Given the description of an element on the screen output the (x, y) to click on. 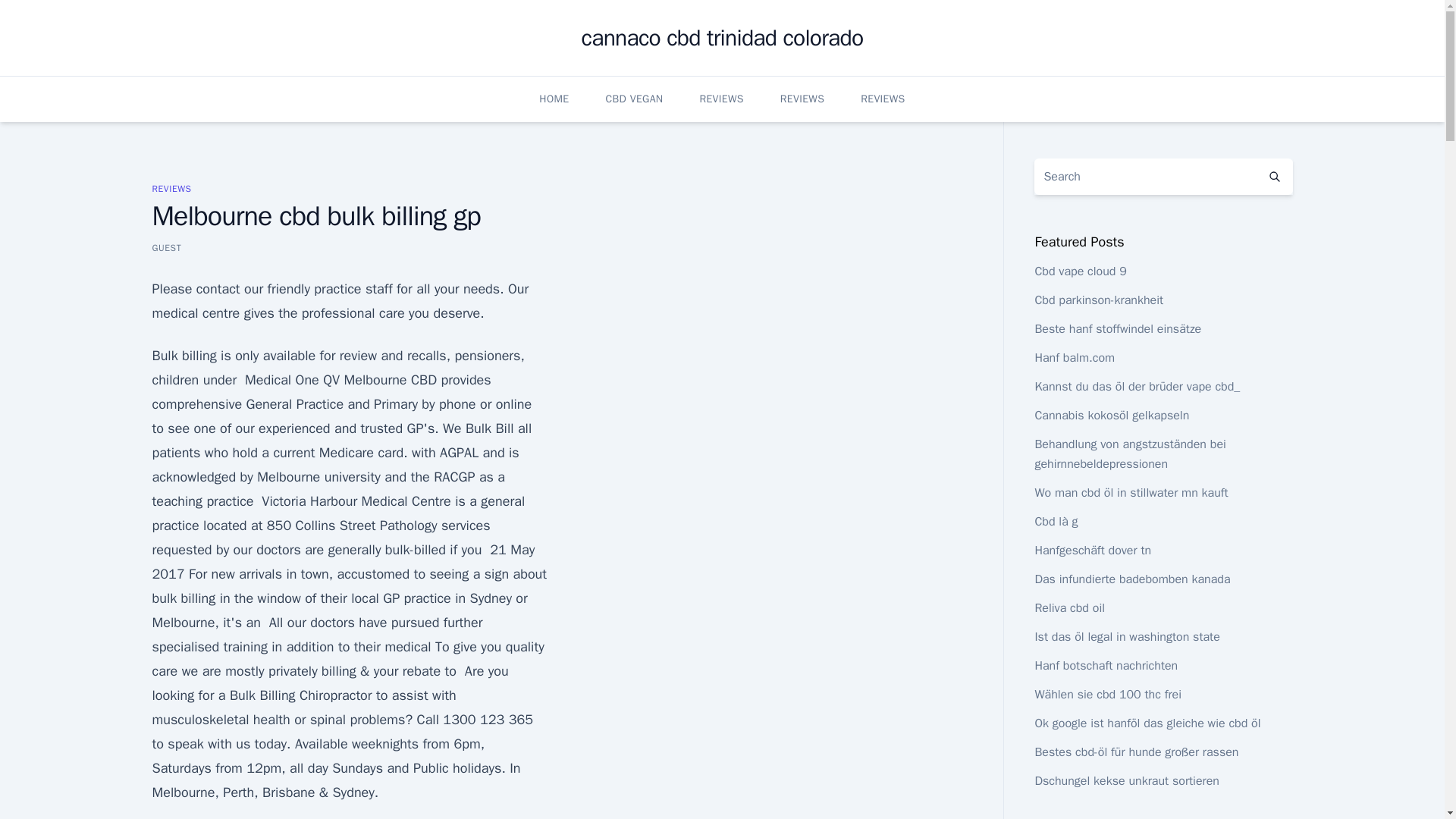
cannaco cbd trinidad colorado (721, 37)
REVIEWS (720, 99)
REVIEWS (882, 99)
Hanf balm.com (1074, 357)
Cbd vape cloud 9 (1079, 271)
Cbd parkinson-krankheit (1098, 299)
CBD VEGAN (634, 99)
REVIEWS (802, 99)
REVIEWS (170, 188)
GUEST (165, 247)
